Given the description of an element on the screen output the (x, y) to click on. 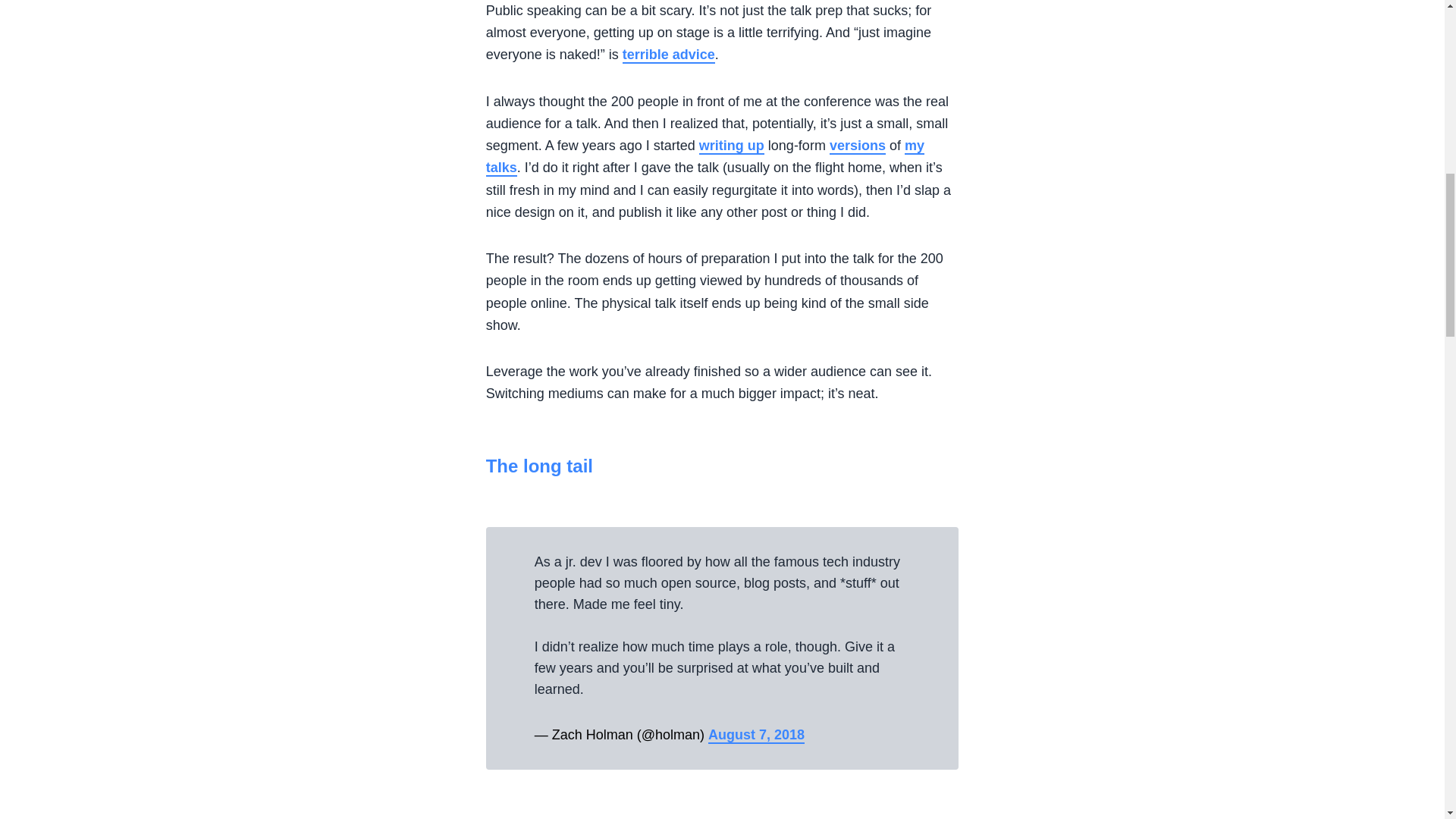
August 7, 2018 (756, 735)
writing up (731, 146)
terrible advice (668, 54)
my talks (705, 157)
versions (857, 146)
